Given the description of an element on the screen output the (x, y) to click on. 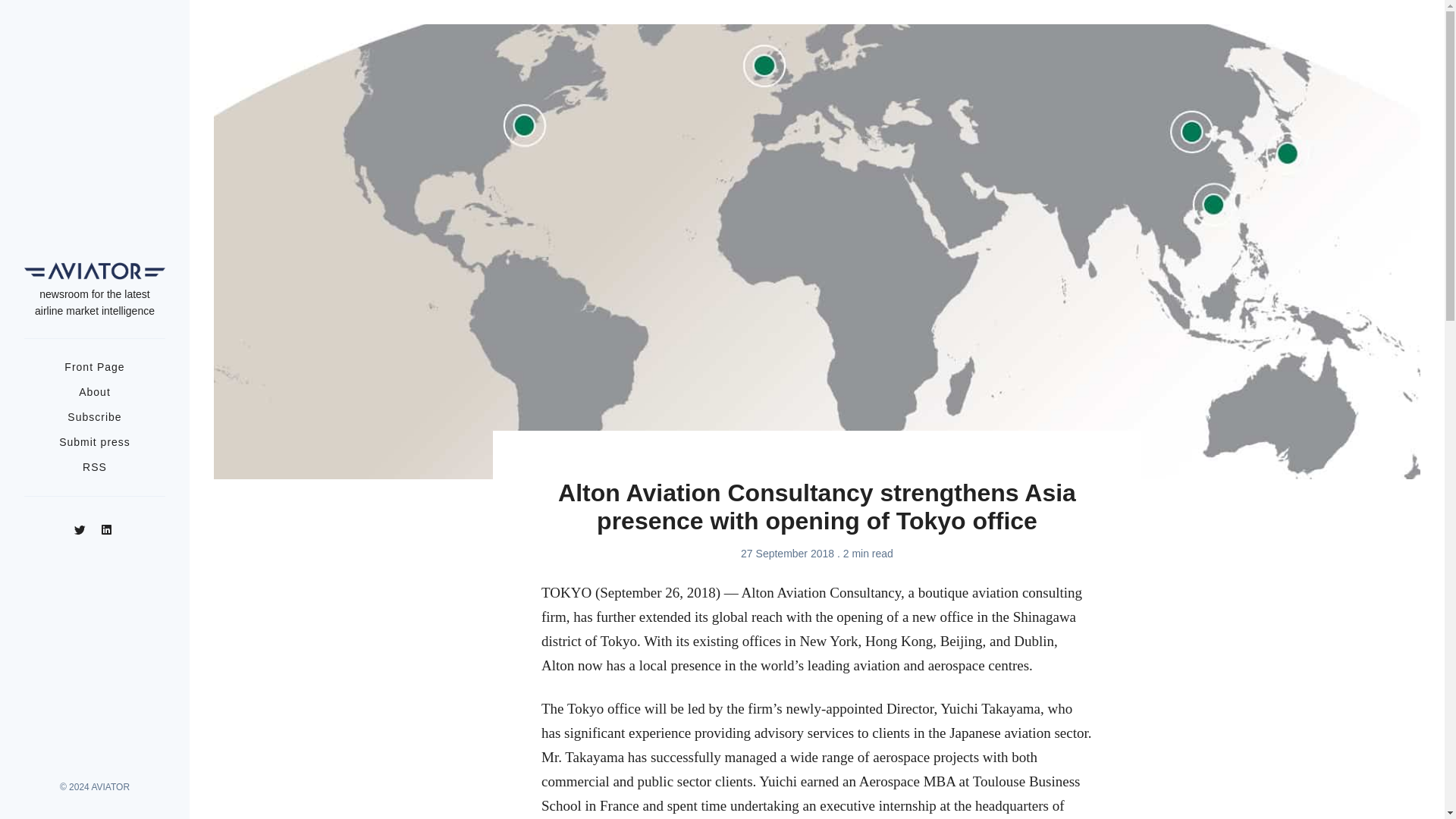
Front Page (93, 367)
Submit press (95, 441)
Subscribe (93, 417)
About (94, 391)
RSS (94, 467)
